Given the description of an element on the screen output the (x, y) to click on. 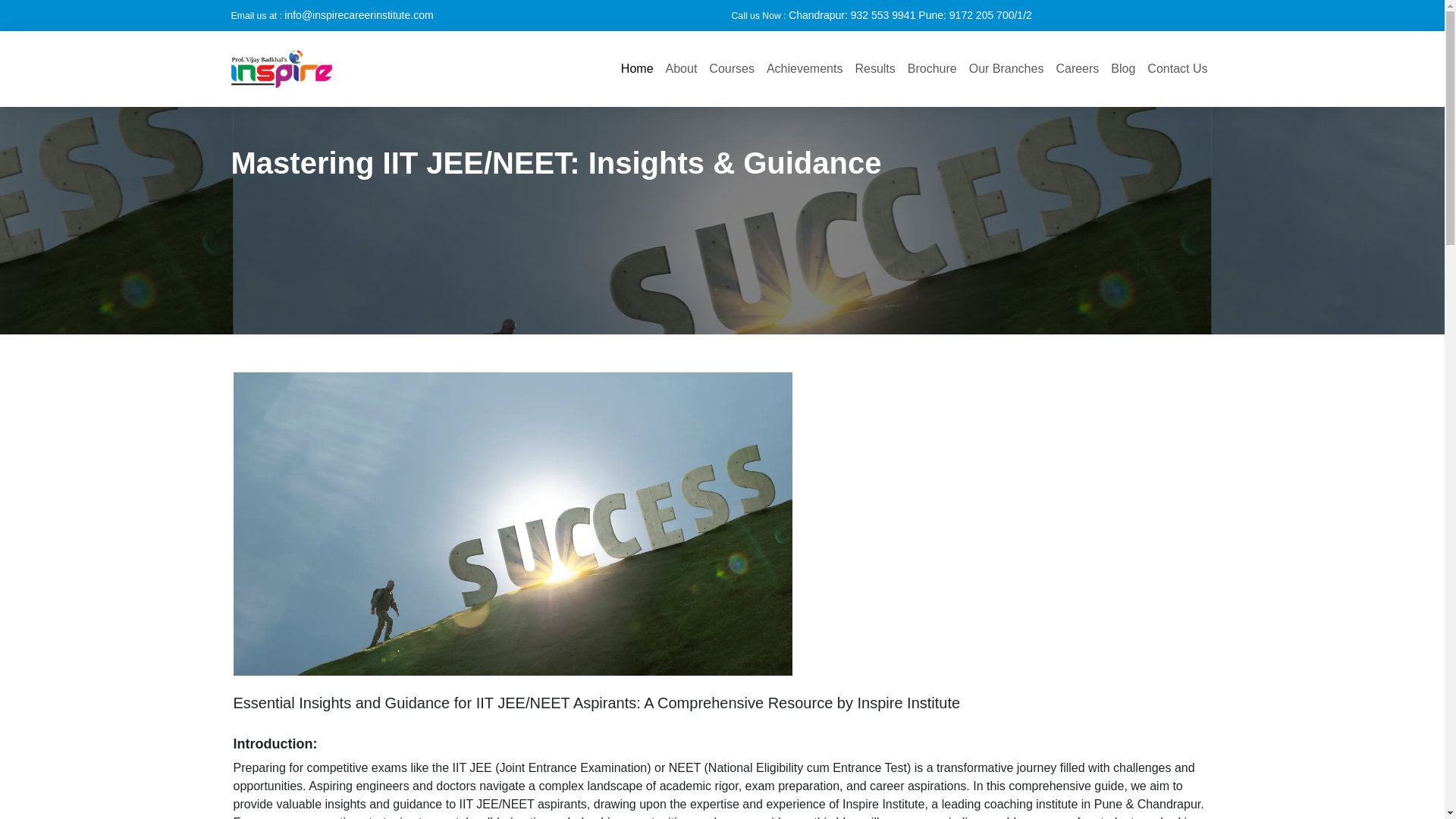
Achievements (804, 69)
Home (636, 69)
Brochure (931, 69)
Courses (731, 69)
Results (874, 69)
Contact Us (1176, 69)
About (681, 69)
Our Branches (1005, 69)
Blog (1123, 69)
Careers (1077, 69)
